Given the description of an element on the screen output the (x, y) to click on. 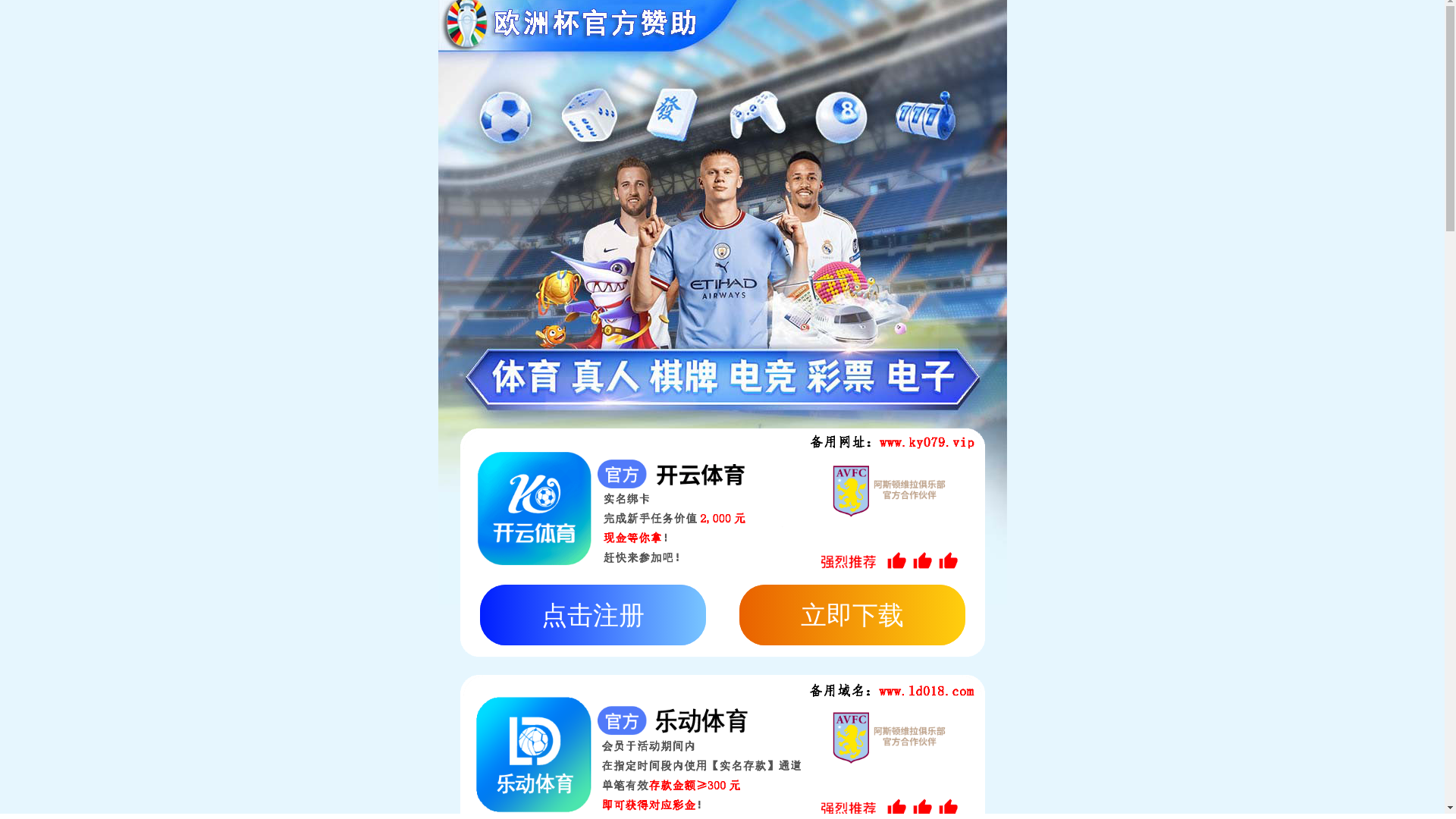
New product (383, 651)
Three-layer co-extrusion dry crosslink production line (383, 429)
GJ140 Double Screw Mineral Cable Special Extrusion Line (383, 706)
RB500 Type Taping Unit (383, 675)
Triple-Layer Co-extrusion Crosshead (383, 775)
About us (410, 141)
Products (579, 141)
Qingdao Woke machinery manufacture Co.Ltd (575, 54)
200 Extruder (383, 627)
Service (746, 141)
